Given the description of an element on the screen output the (x, y) to click on. 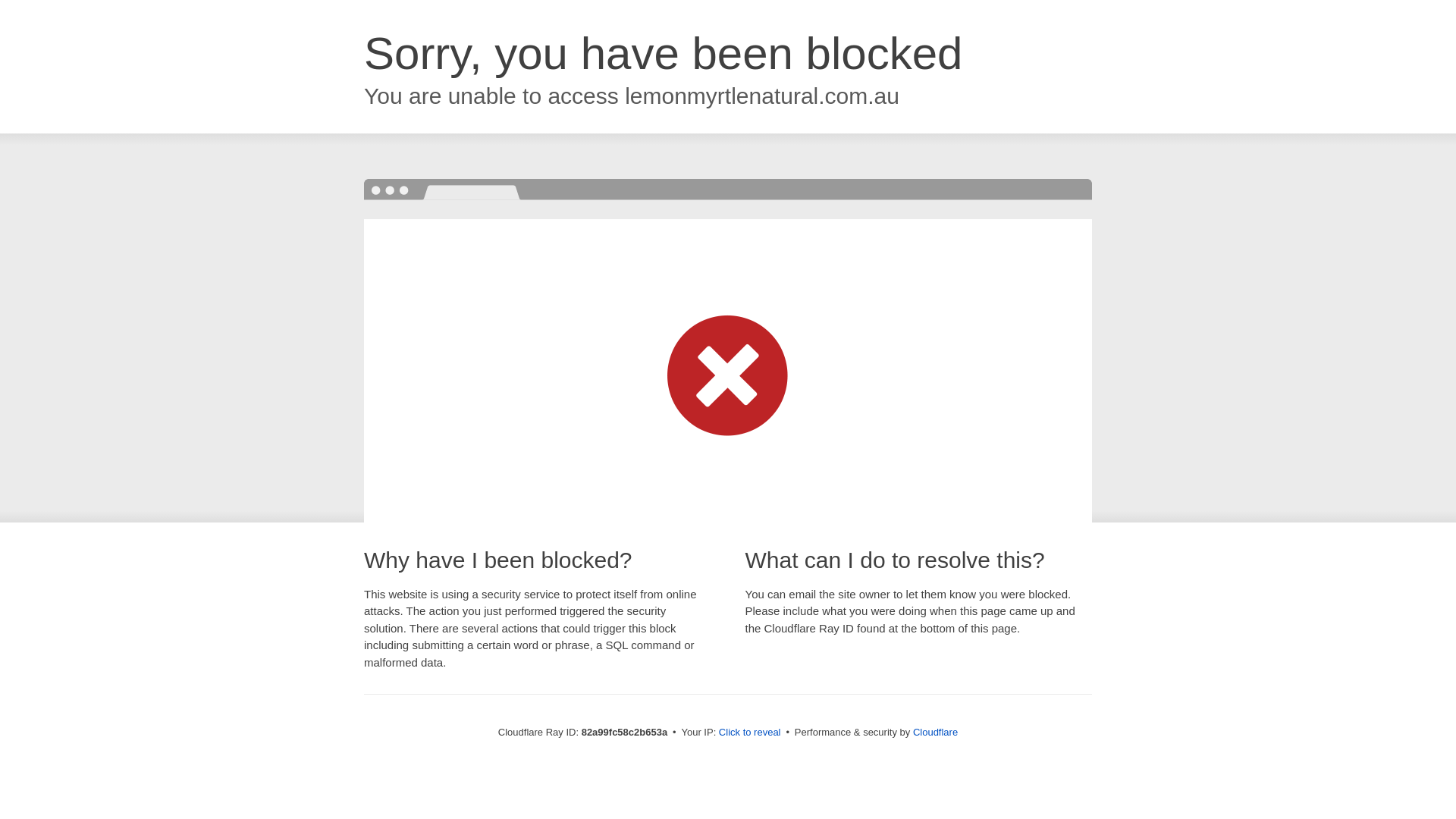
Cloudflare Element type: text (935, 731)
Click to reveal Element type: text (749, 732)
